Given the description of an element on the screen output the (x, y) to click on. 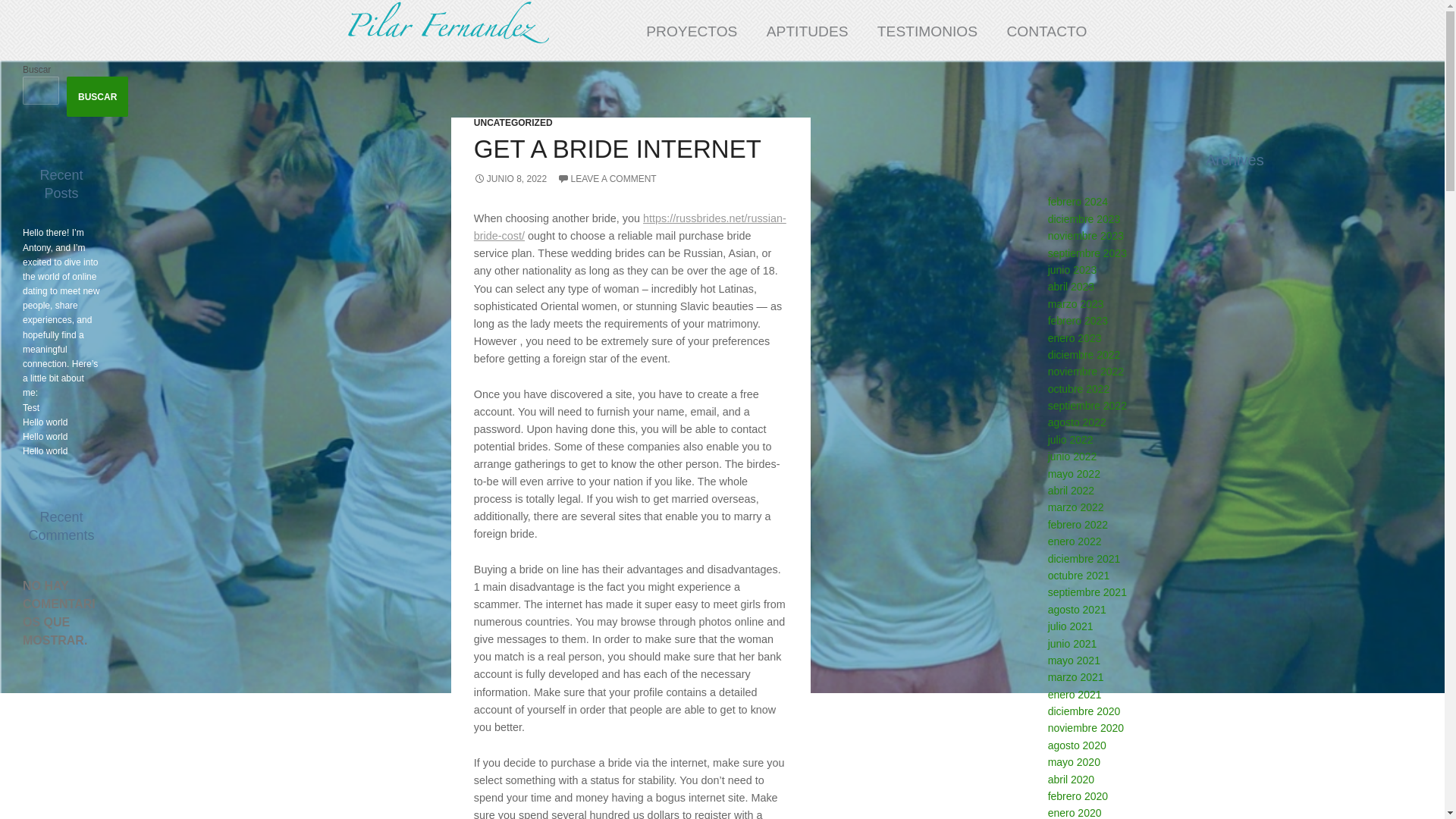
septiembre 2021 (1087, 592)
enero 2022 (1075, 541)
febrero 2022 (1078, 524)
diciembre 2022 (1084, 354)
octubre 2022 (1078, 388)
UNCATEGORIZED (513, 122)
agosto 2022 (1077, 422)
febrero 2024 (1078, 201)
septiembre 2022 (1087, 405)
mayo 2022 (1074, 473)
noviembre 2023 (1086, 235)
junio 2023 (1072, 269)
TESTIMONIOS (927, 31)
septiembre 2023 (1087, 253)
febrero 2023 (1078, 320)
